Given the description of an element on the screen output the (x, y) to click on. 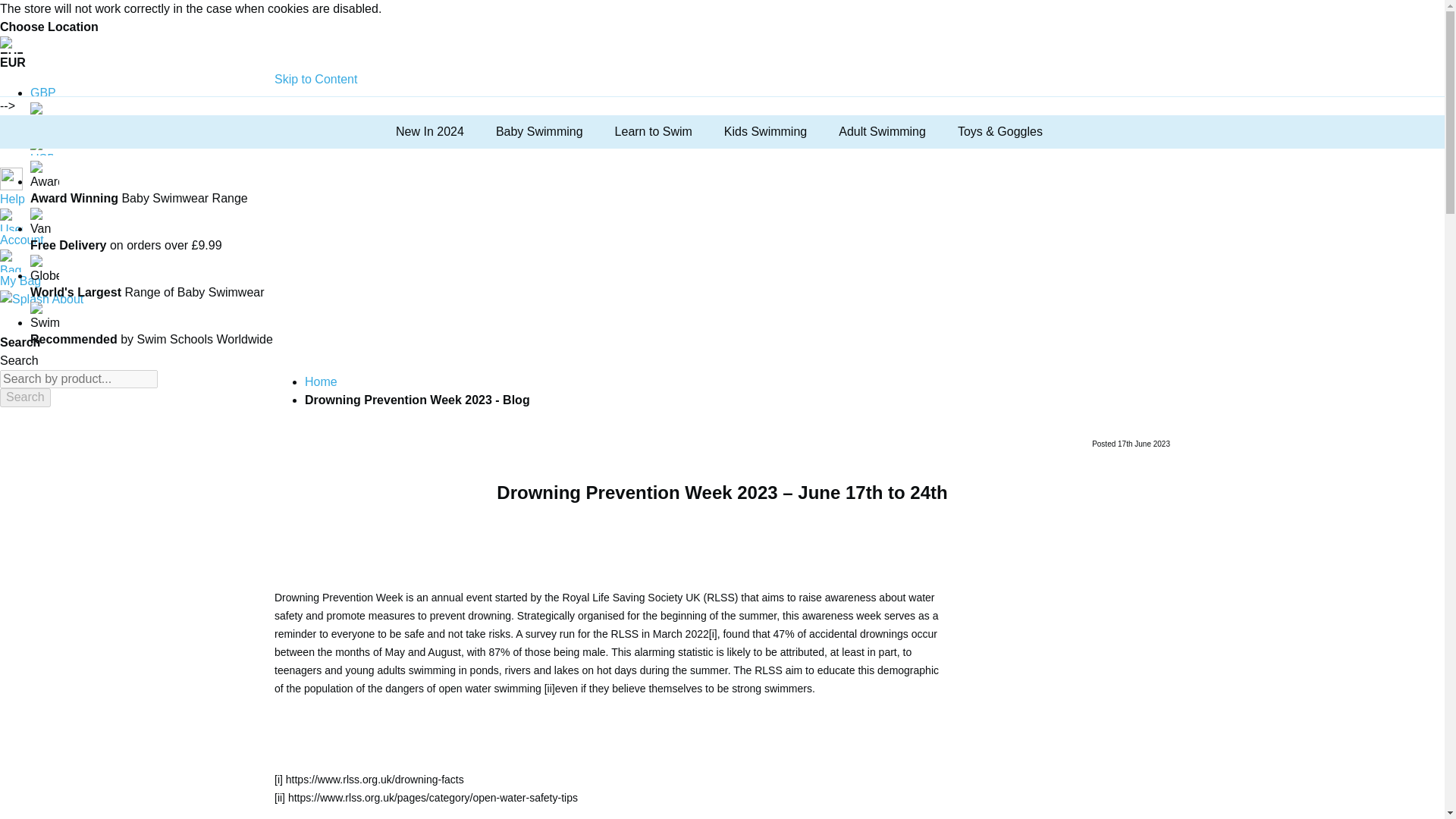
Search (25, 397)
Baby Swimming (542, 131)
Skip to Content (315, 78)
Splash About (98, 311)
Go to Home Page (320, 381)
New In 2024 (433, 131)
Learn to Swim (656, 131)
Search (25, 397)
